Given the description of an element on the screen output the (x, y) to click on. 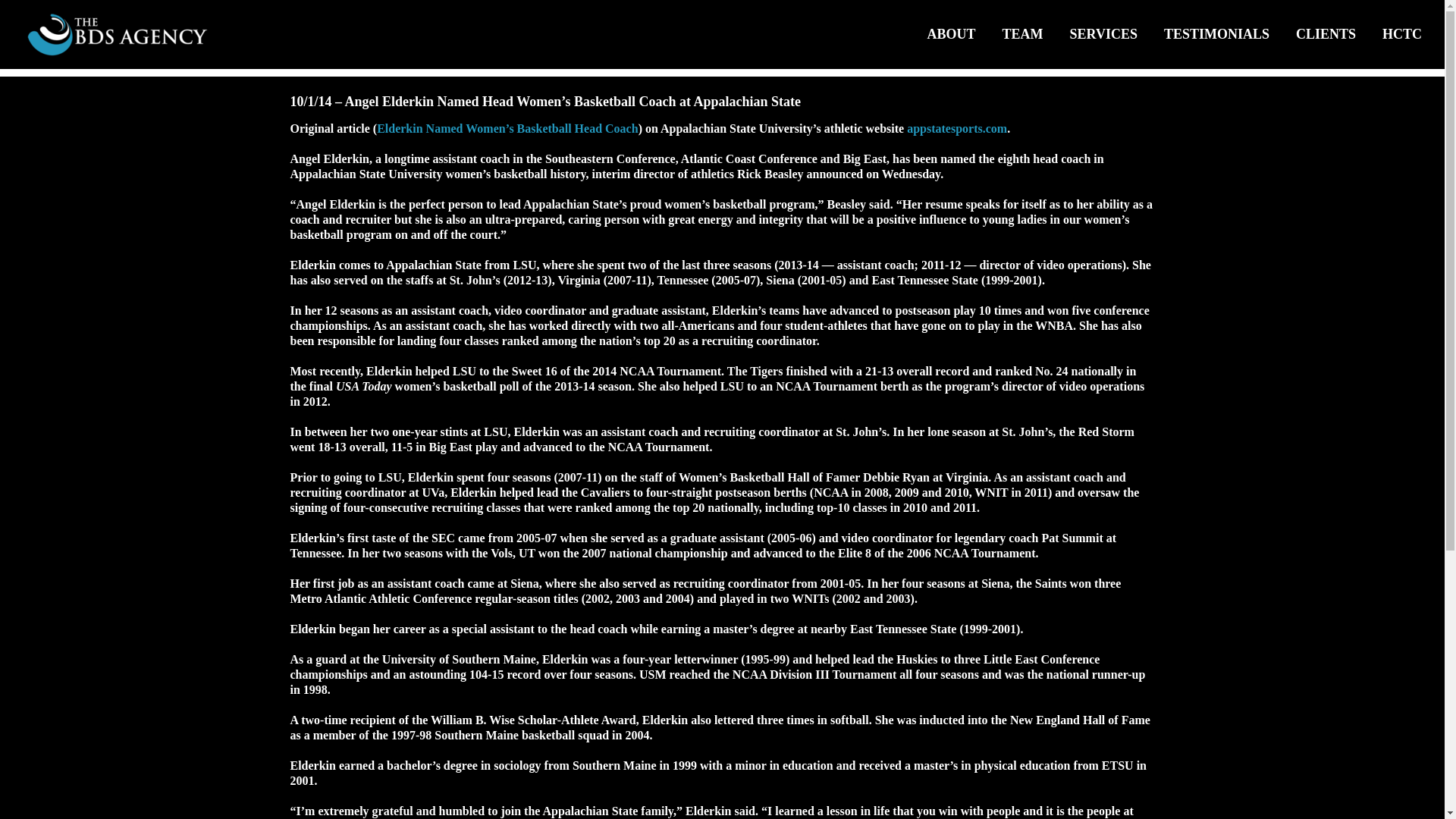
TESTIMONIALS (1216, 33)
SERVICES (1102, 33)
appstatesports.com (957, 128)
